Given the description of an element on the screen output the (x, y) to click on. 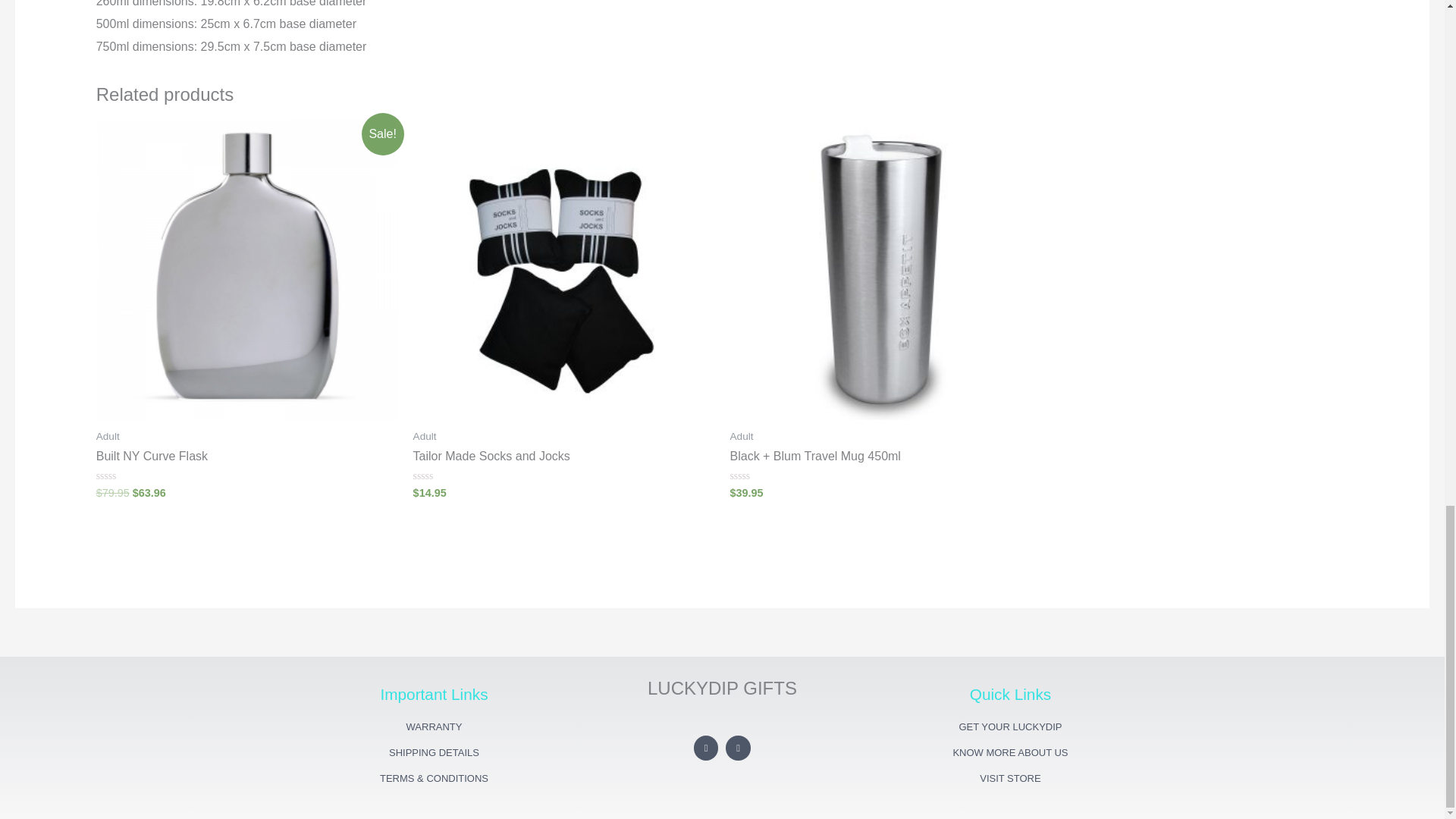
GET YOUR LUCKYDIP (1009, 727)
Tailor Made Socks and Jocks (563, 456)
SHIPPING DETAILS (433, 752)
Built NY Curve Flask (246, 456)
WARRANTY (433, 727)
KNOW MORE ABOUT US (1009, 752)
